Given the description of an element on the screen output the (x, y) to click on. 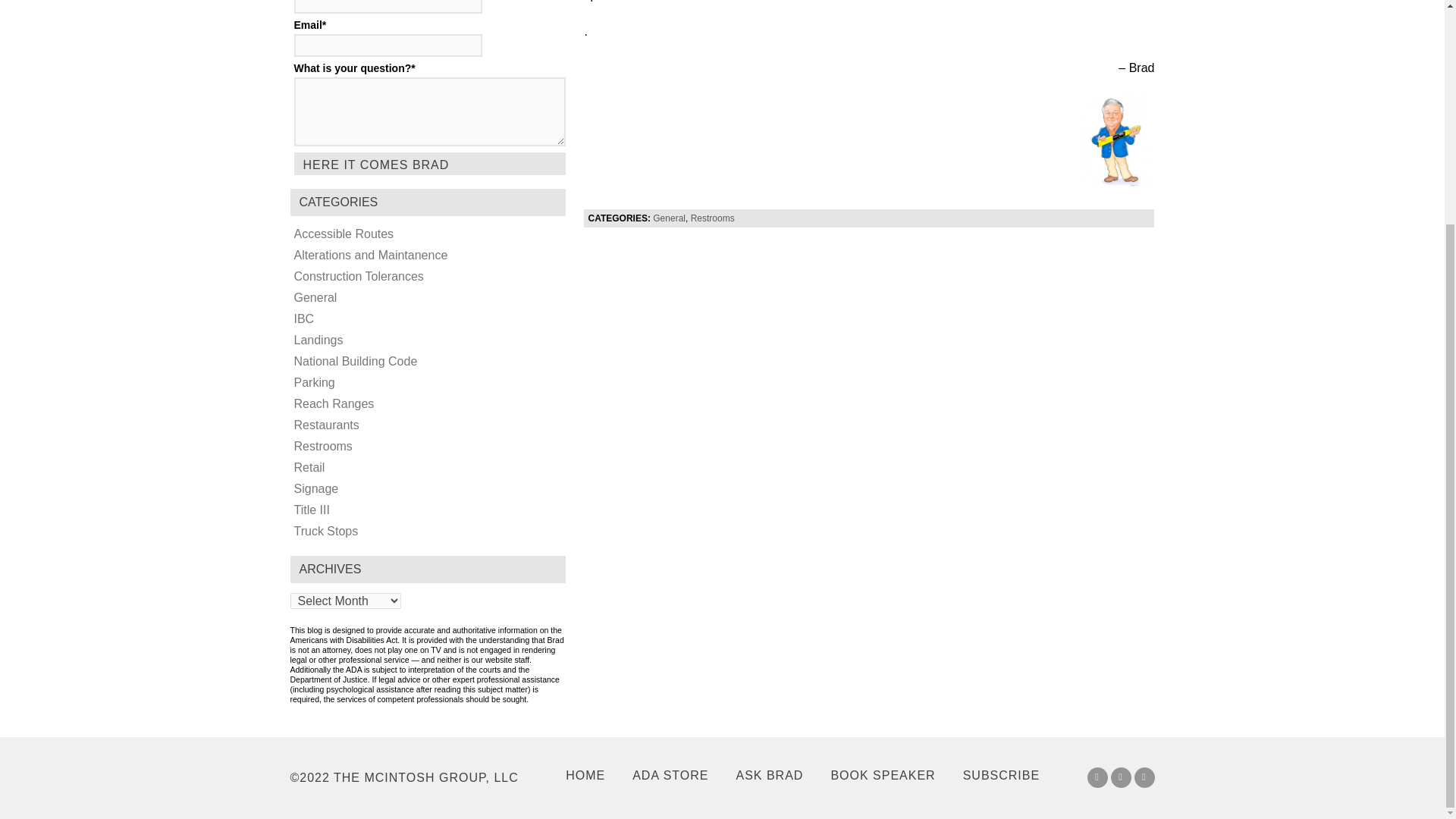
Alterations and Maintanence (371, 254)
General (668, 217)
Here it comes Brad (430, 163)
Here it comes Brad (430, 163)
Restrooms (712, 217)
Construction Tolerances (358, 276)
Accessible Routes (344, 233)
